Given the description of an element on the screen output the (x, y) to click on. 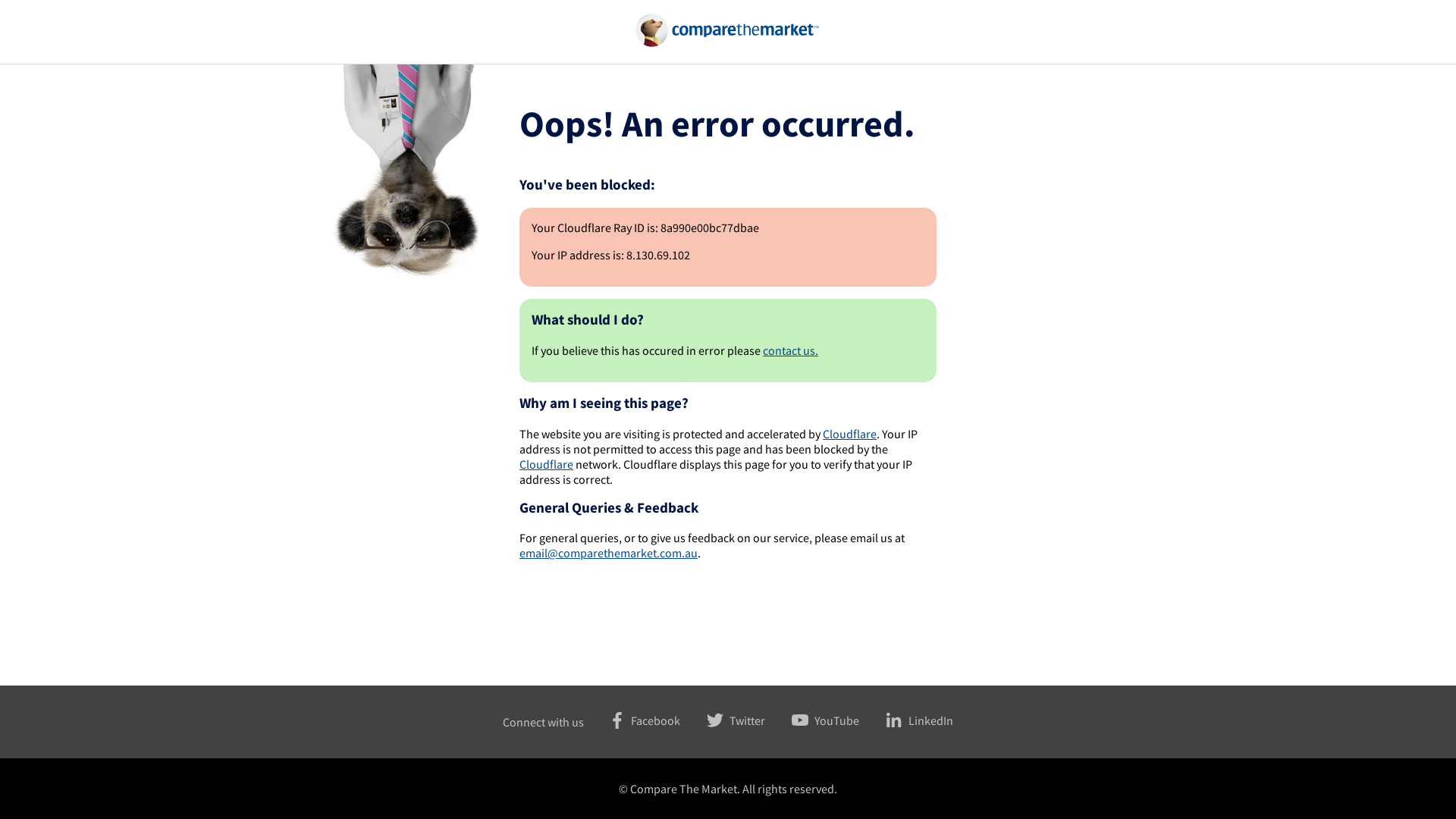
Logo Facebook (616, 719)
Logo YouTube (800, 719)
LinkedIn (907, 719)
contact us. (790, 350)
Facebook (631, 719)
Twitter (723, 719)
Sergei Upside Down (405, 171)
Cloudflare (546, 463)
Cloudflare (849, 433)
Logo Twitter (714, 719)
YouTube (813, 719)
Logo CompareTheMarket (727, 29)
Logo LinkedIn (893, 719)
